Given the description of an element on the screen output the (x, y) to click on. 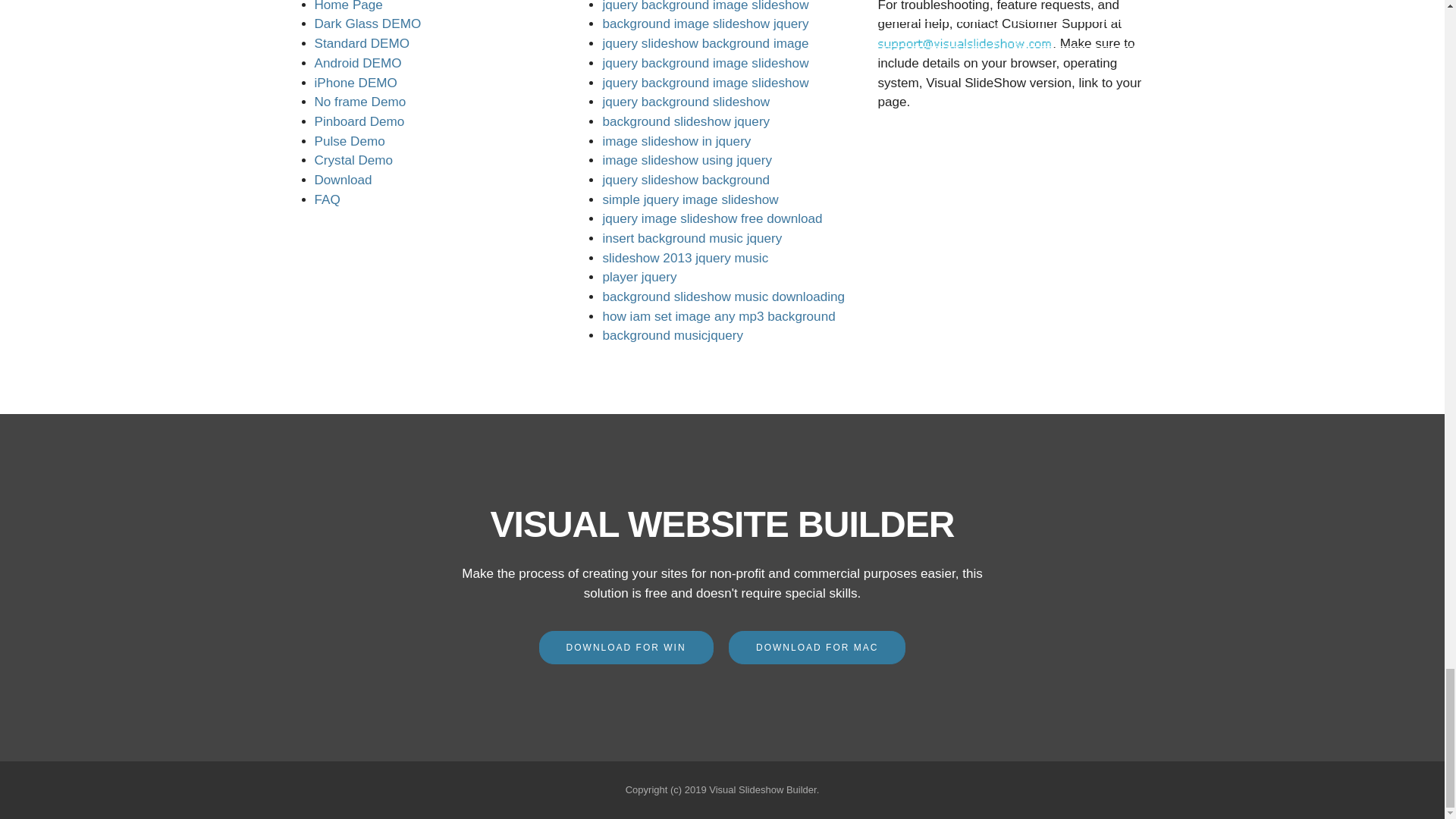
Pulse Demo (349, 141)
iPhone DEMO (355, 83)
No frame Demo (360, 101)
Crystal Demo (353, 160)
Download (342, 179)
Android DEMO (357, 63)
Pinboard Demo (359, 121)
Home Page (347, 6)
Dark Glass DEMO (367, 23)
Standard DEMO (361, 43)
